Given the description of an element on the screen output the (x, y) to click on. 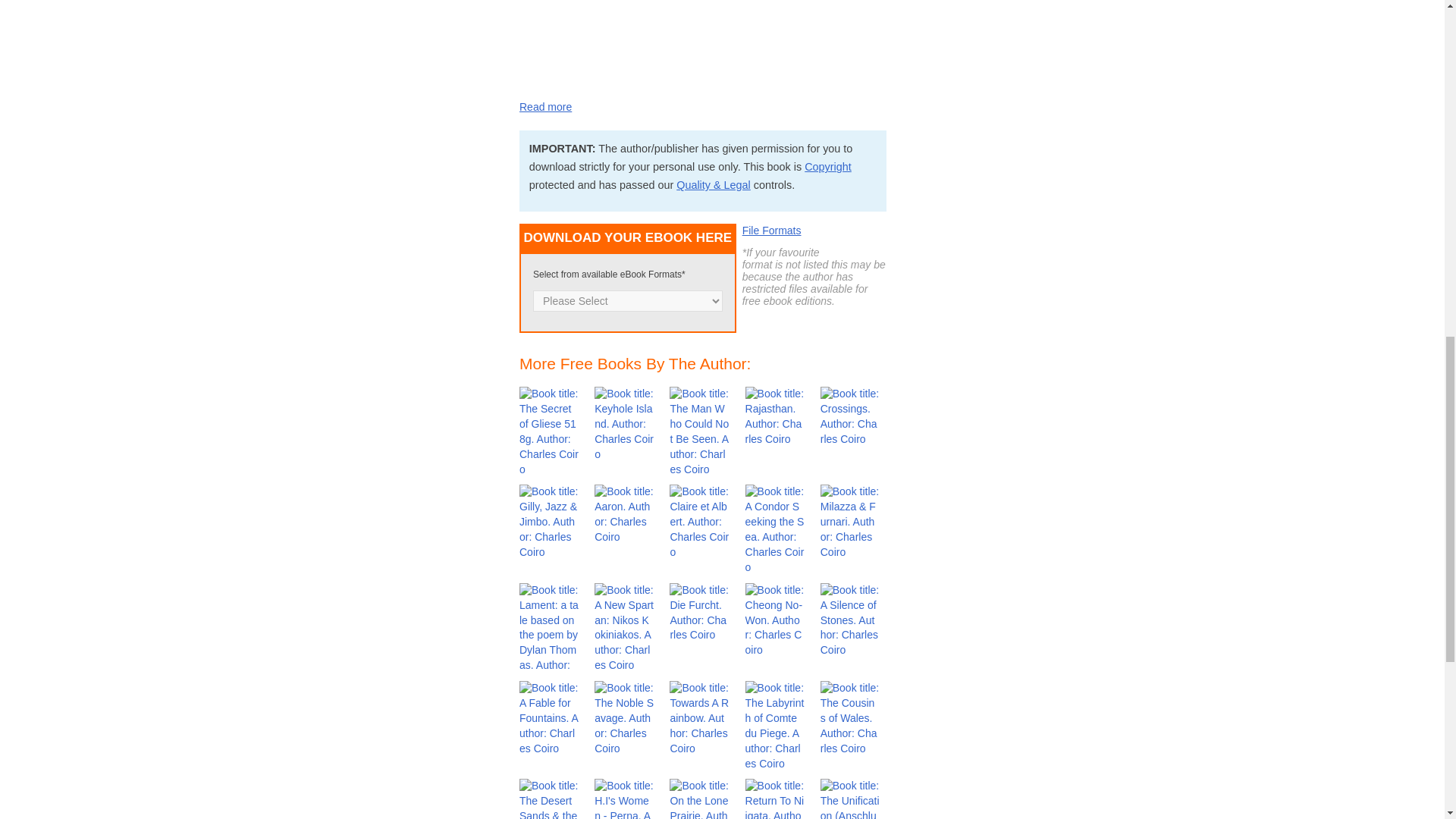
File Formats (772, 230)
Copyright (828, 166)
Checked for Quality (714, 184)
Read more (545, 106)
Protected by Copyright (828, 166)
